Given the description of an element on the screen output the (x, y) to click on. 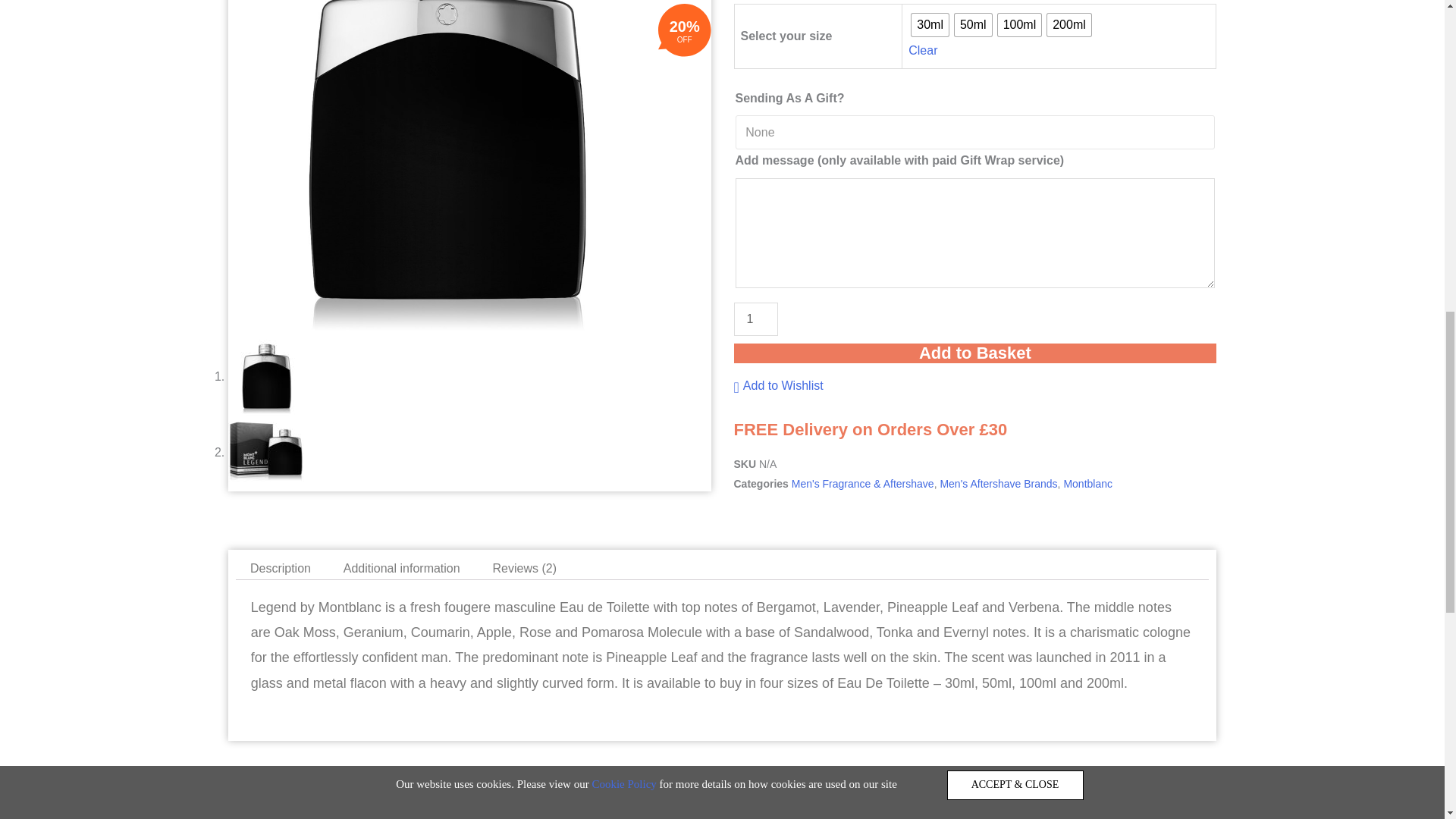
50ml (973, 24)
100ml (1019, 24)
1 (755, 318)
30ml (930, 24)
200ml (1068, 24)
